Given the description of an element on the screen output the (x, y) to click on. 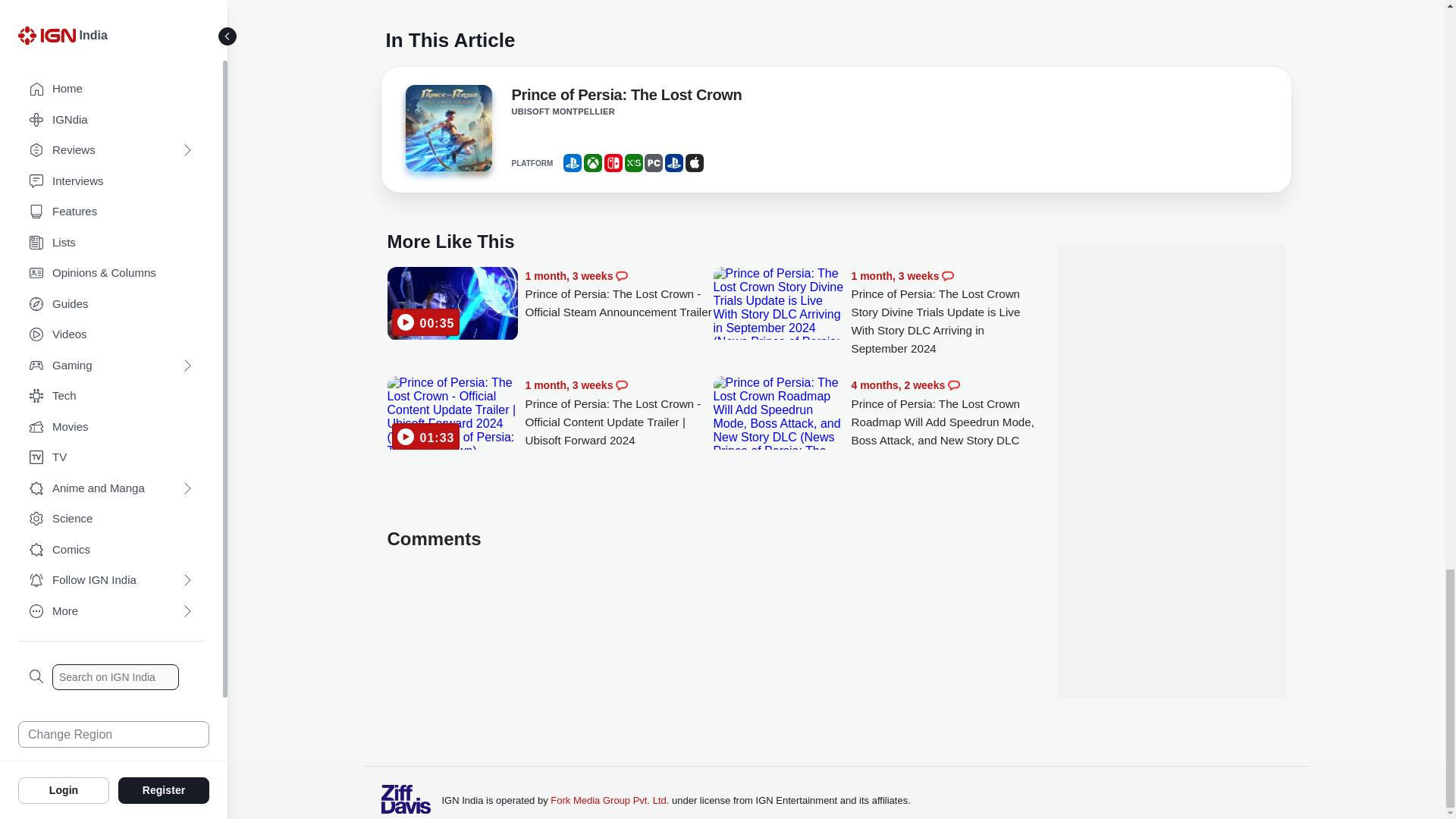
Prince of Persia: The Lost Crown (448, 128)
Prince of Persia: The Lost Crown (448, 132)
Prince of Persia: The Lost Crown (626, 97)
